Given the description of an element on the screen output the (x, y) to click on. 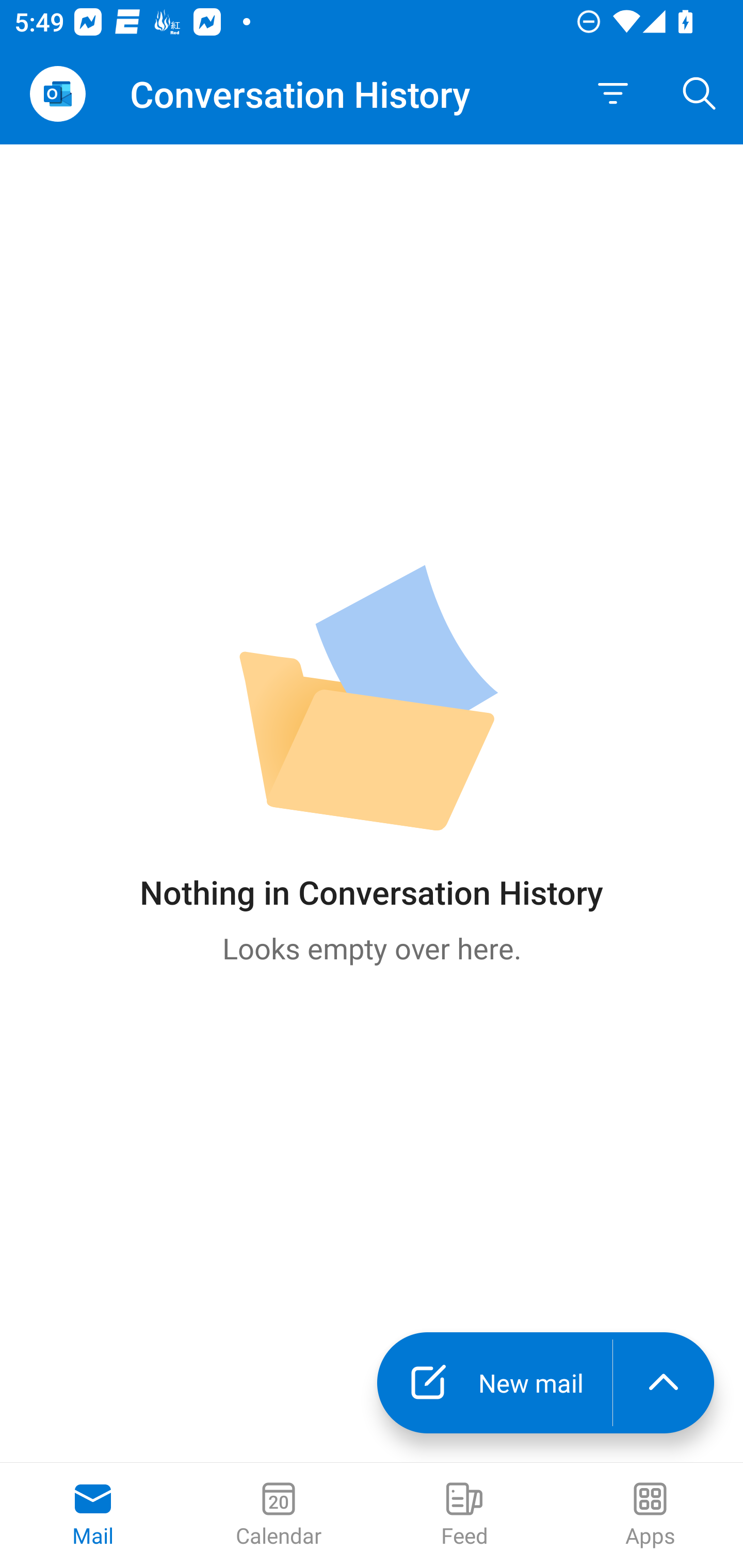
Search, ,  (699, 93)
Open Navigation Drawer (57, 94)
Filter (612, 94)
New mail (494, 1382)
launch the extended action menu (663, 1382)
Calendar (278, 1515)
Feed (464, 1515)
Apps (650, 1515)
